Given the description of an element on the screen output the (x, y) to click on. 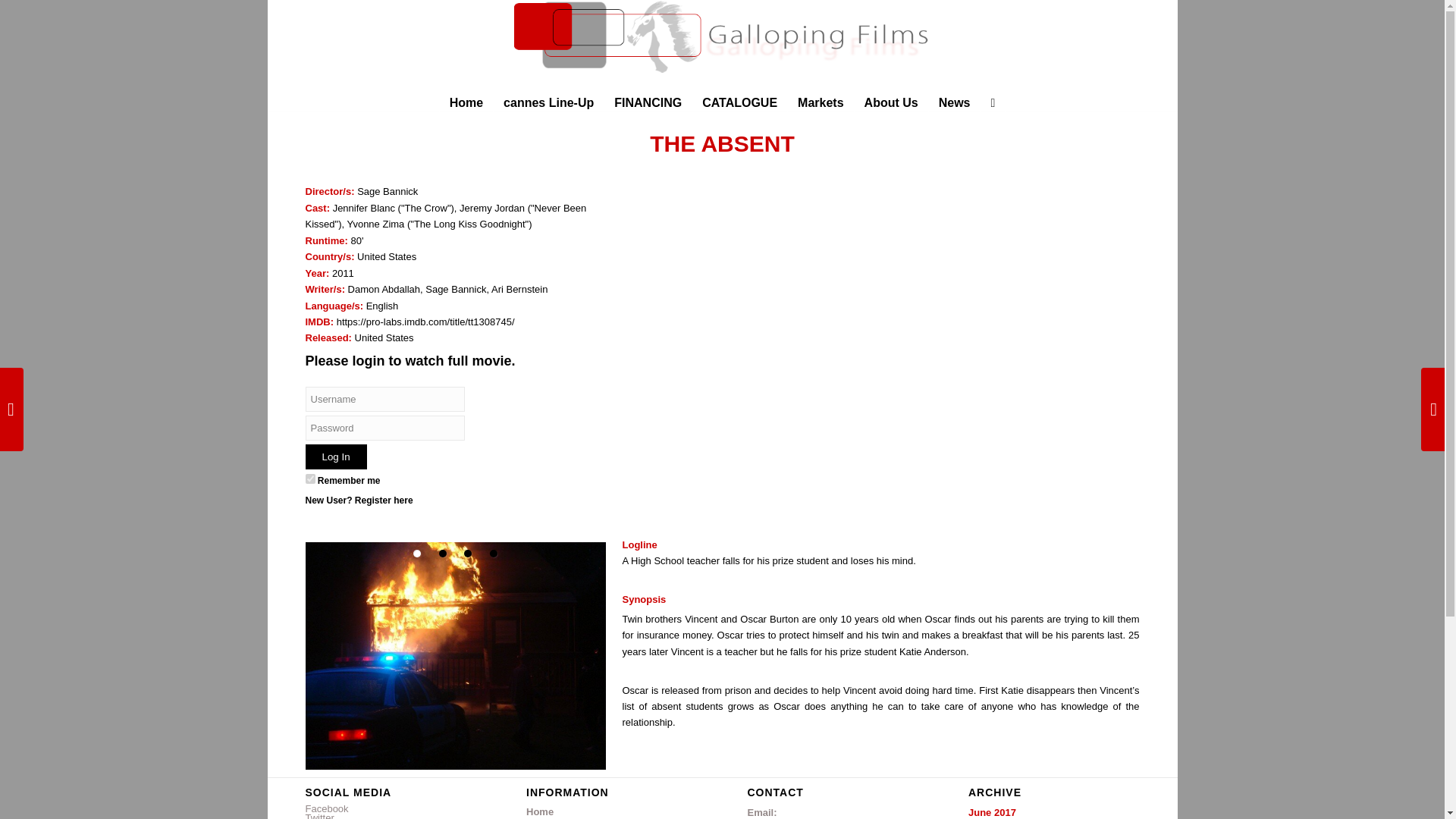
FINANCING (648, 102)
CATALOGUE (740, 102)
Markets (820, 102)
THE ABSENT (721, 143)
Permanent Link: The Absent (721, 143)
here (402, 500)
cannes Line-Up (548, 102)
Home (466, 102)
home (466, 102)
Log In (335, 456)
forever (309, 479)
Home (611, 811)
Log In (335, 456)
